Given the description of an element on the screen output the (x, y) to click on. 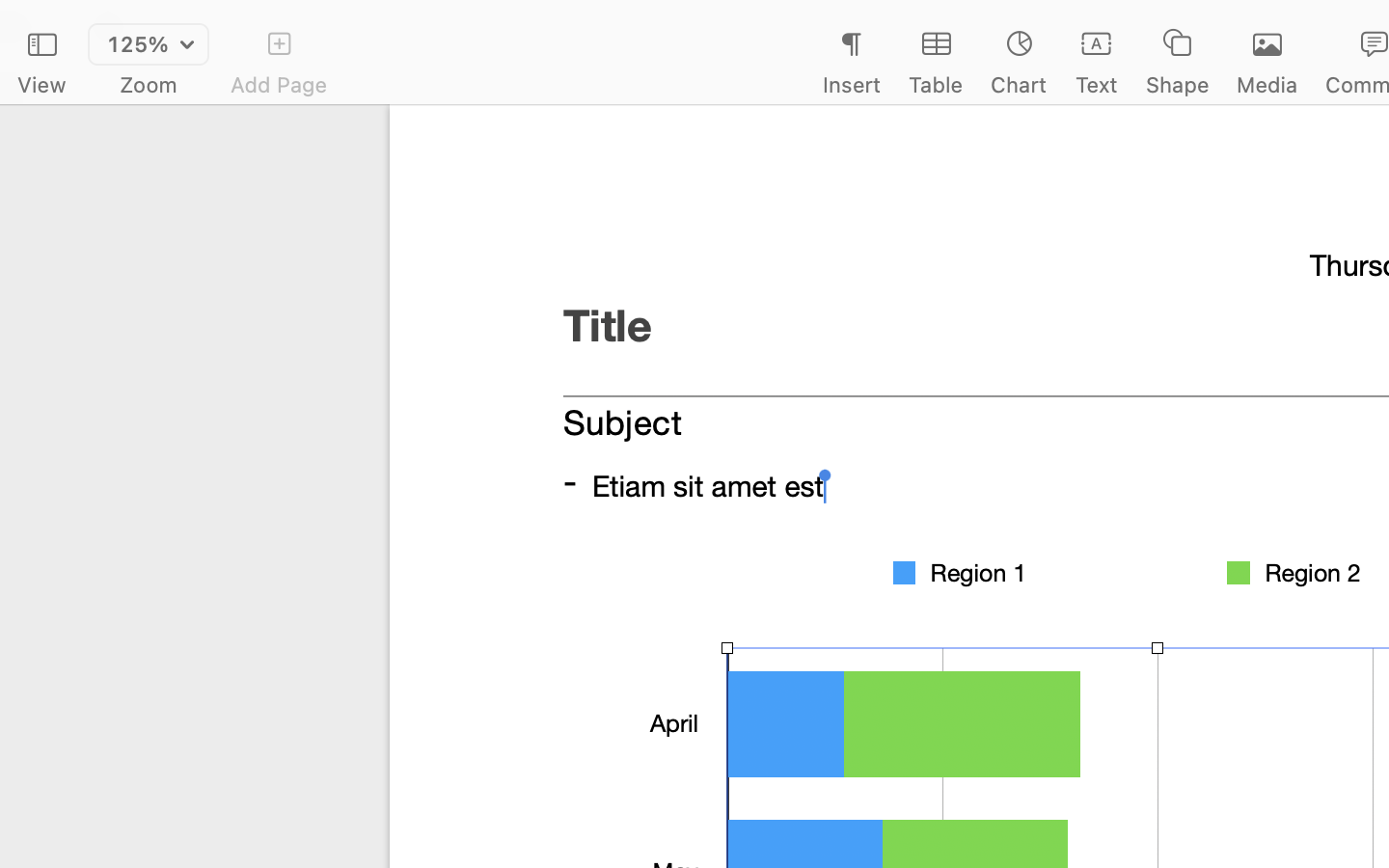
Untitled Element type: AXStaticText (1334, 24)
Insert Element type: AXStaticText (850, 84)
Click to link text boxes together. Element type: AXStaticText (1126, 568)
